Given the description of an element on the screen output the (x, y) to click on. 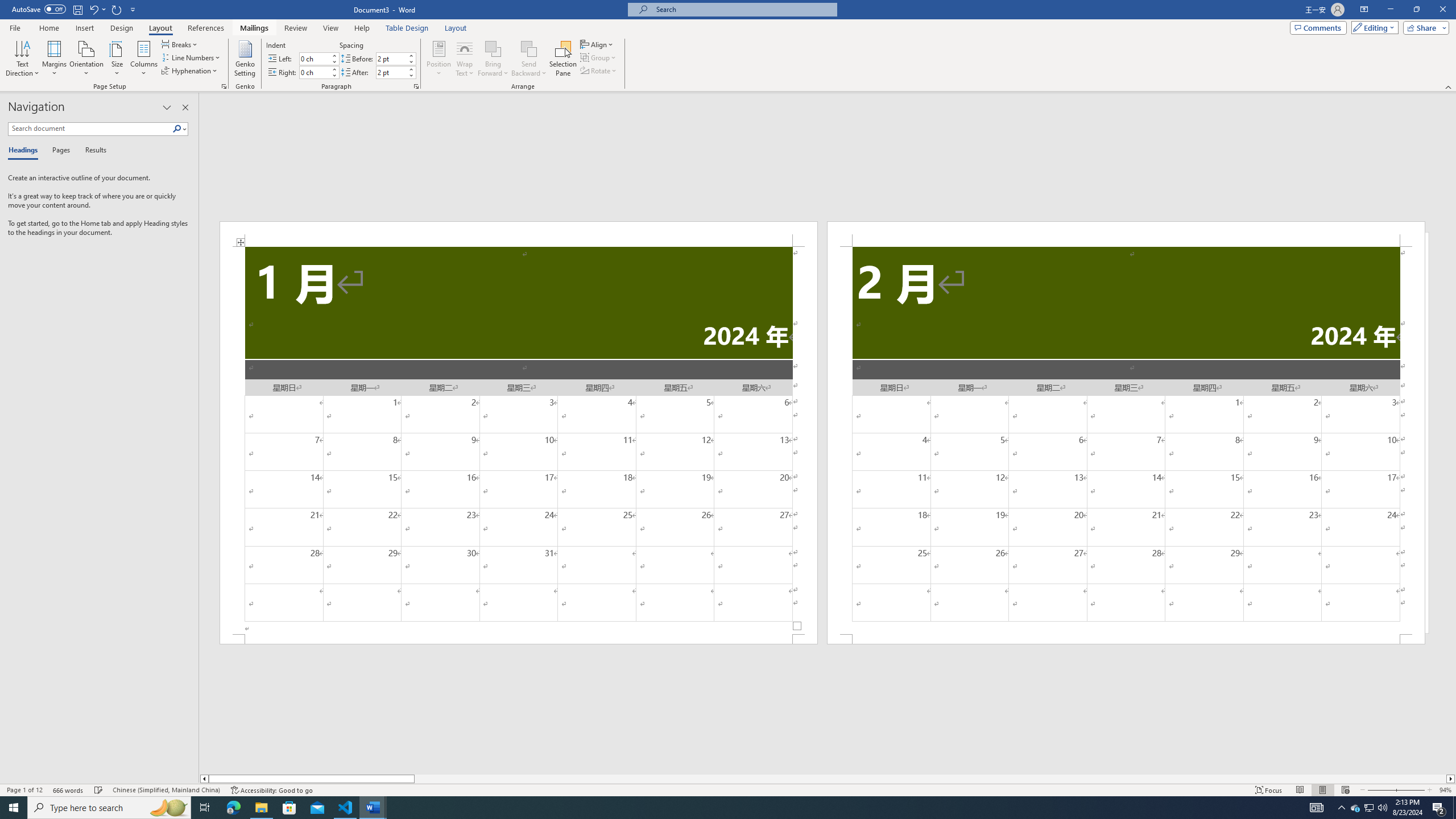
Bring Forward (492, 58)
Help (361, 28)
Columns (143, 58)
Group (599, 56)
Indent Left (314, 58)
Word Count 666 words (68, 790)
Insert (83, 28)
Footer -Section 2- (1126, 638)
Read Mode (1299, 790)
Spacing Before (391, 58)
Ribbon Display Options (1364, 9)
Search (177, 128)
Spacing After (391, 72)
More (411, 69)
